Given the description of an element on the screen output the (x, y) to click on. 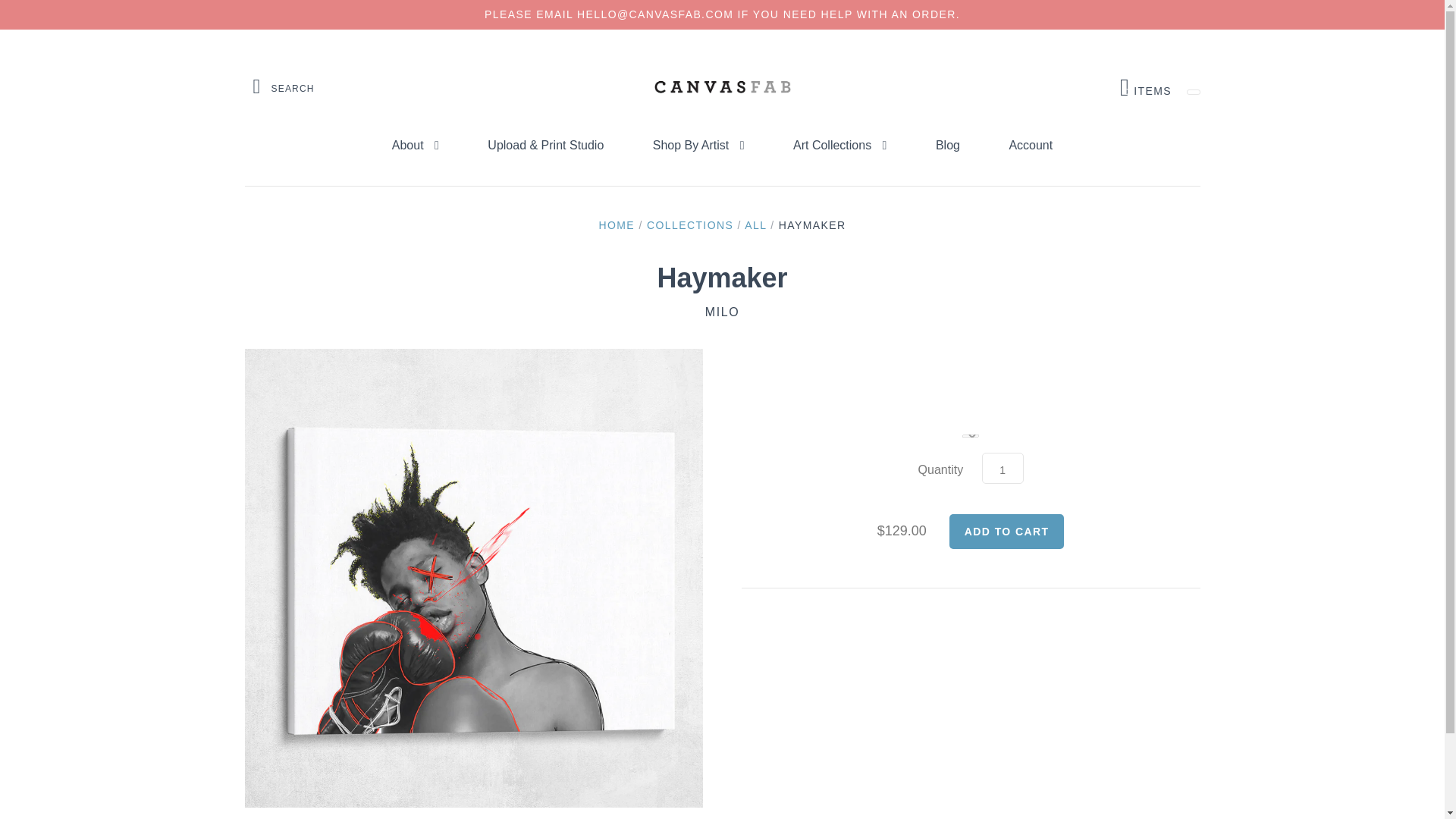
Account (1030, 145)
ALL (755, 224)
HOME (616, 224)
Add to cart (1145, 87)
Add to cart (1006, 531)
MILO (1006, 531)
COLLECTIONS (721, 312)
Art Collections (689, 224)
1 (839, 145)
Blog (1002, 468)
Shop By Artist (947, 145)
About (698, 145)
